Given the description of an element on the screen output the (x, y) to click on. 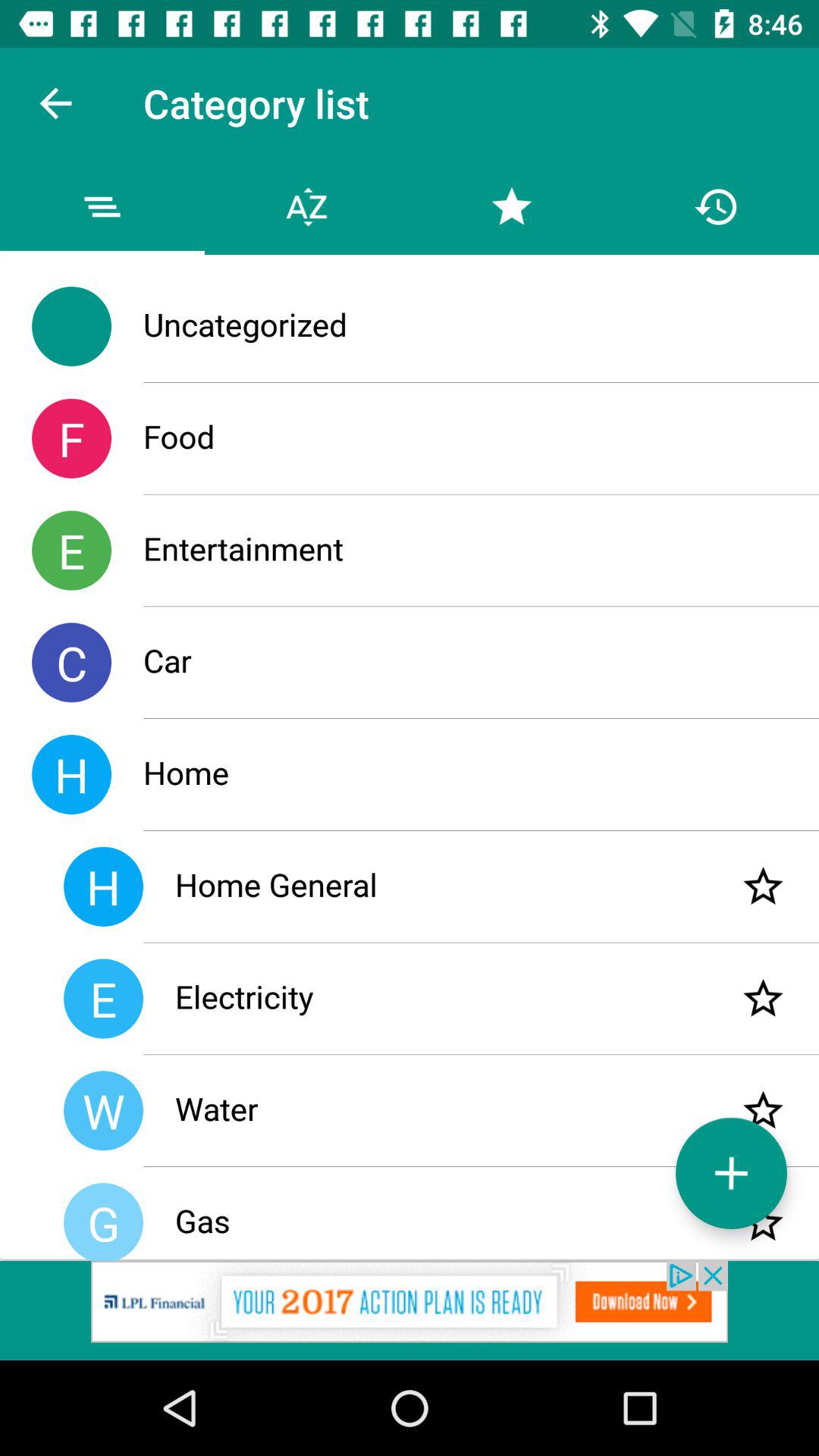
add category (731, 1173)
